Given the description of an element on the screen output the (x, y) to click on. 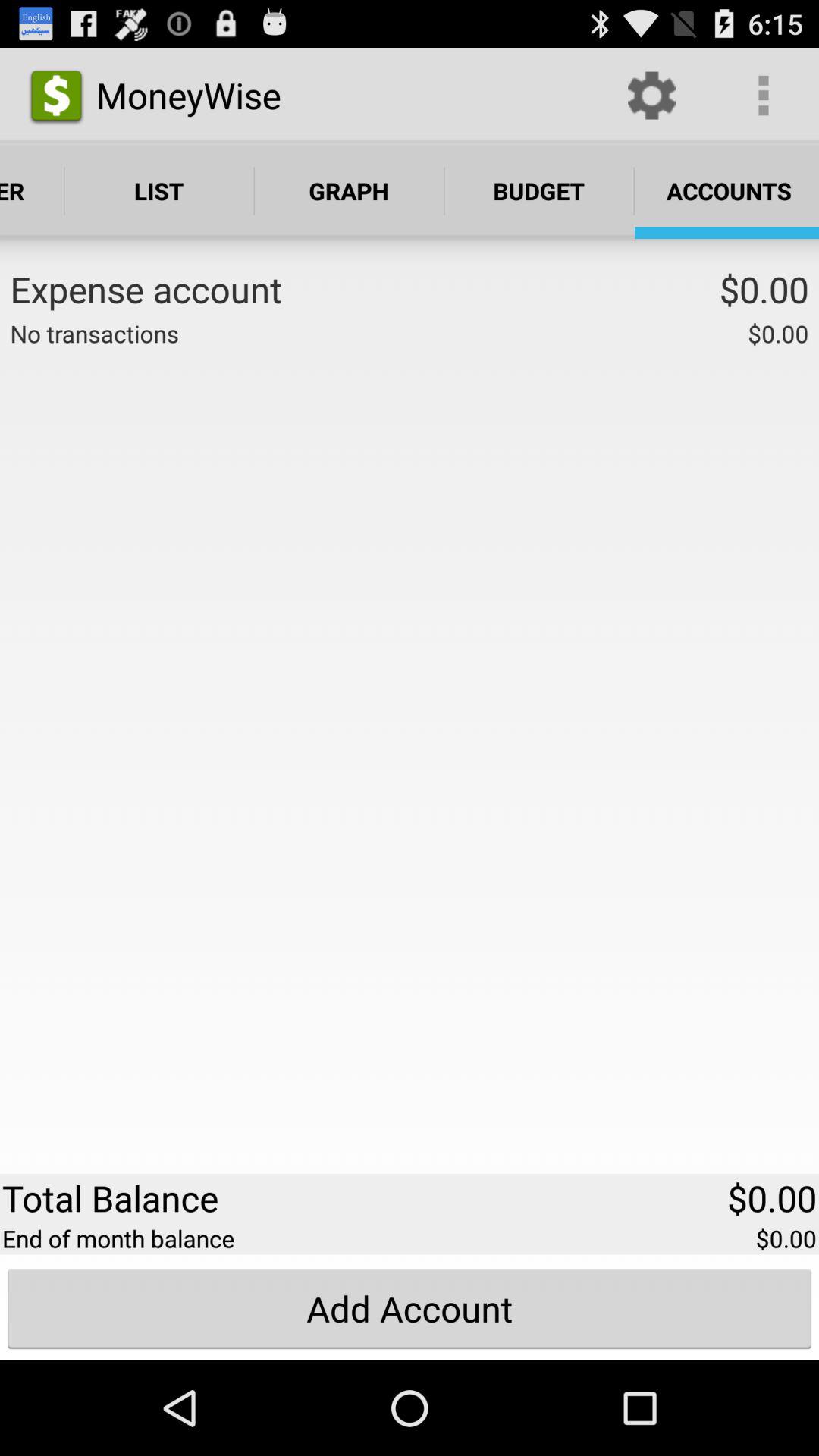
launch the icon to the right of the moneywise item (651, 95)
